Given the description of an element on the screen output the (x, y) to click on. 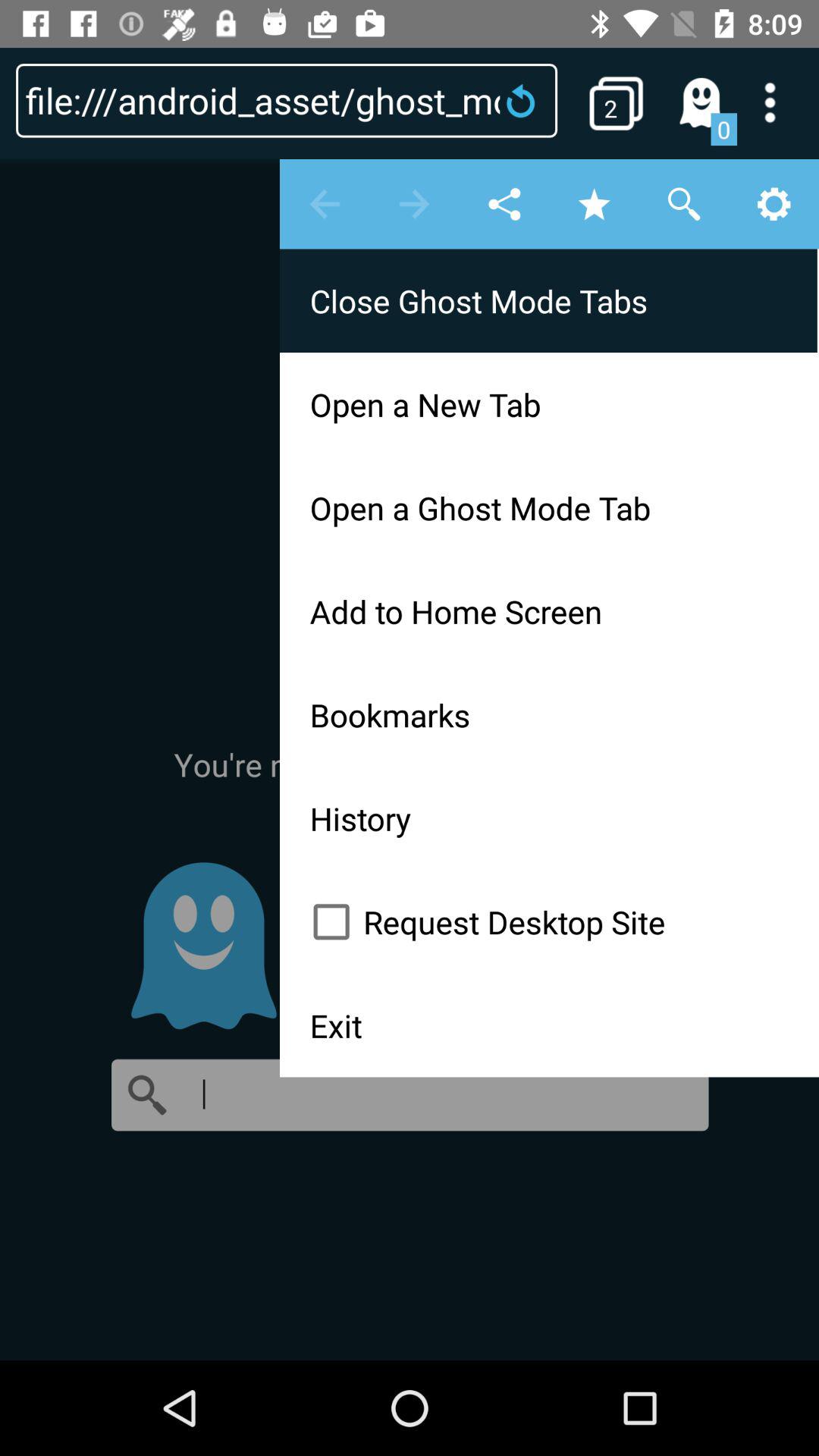
refresh the page (525, 100)
